Given the description of an element on the screen output the (x, y) to click on. 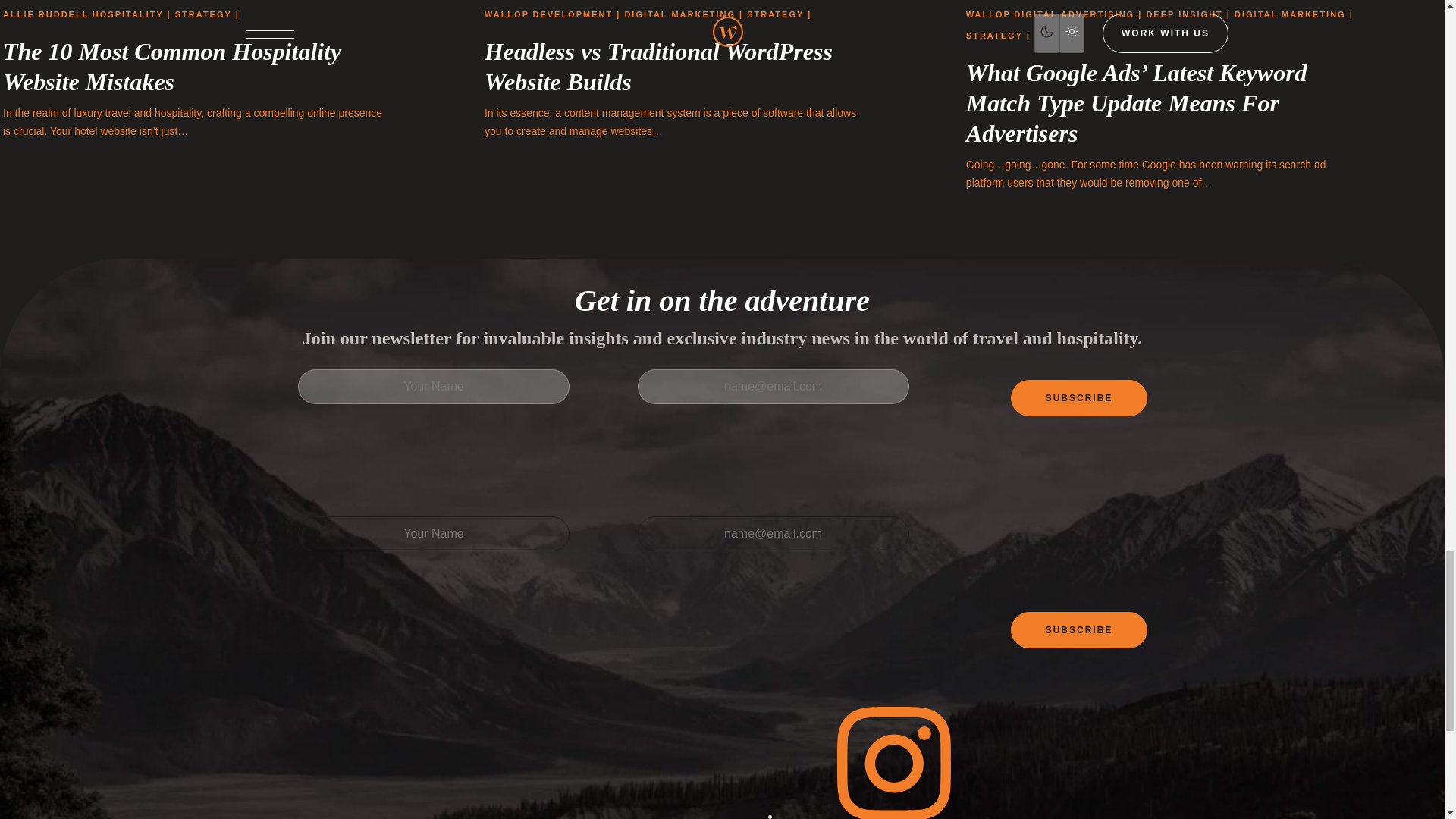
Instagram - Opens in new window. (892, 814)
